Given the description of an element on the screen output the (x, y) to click on. 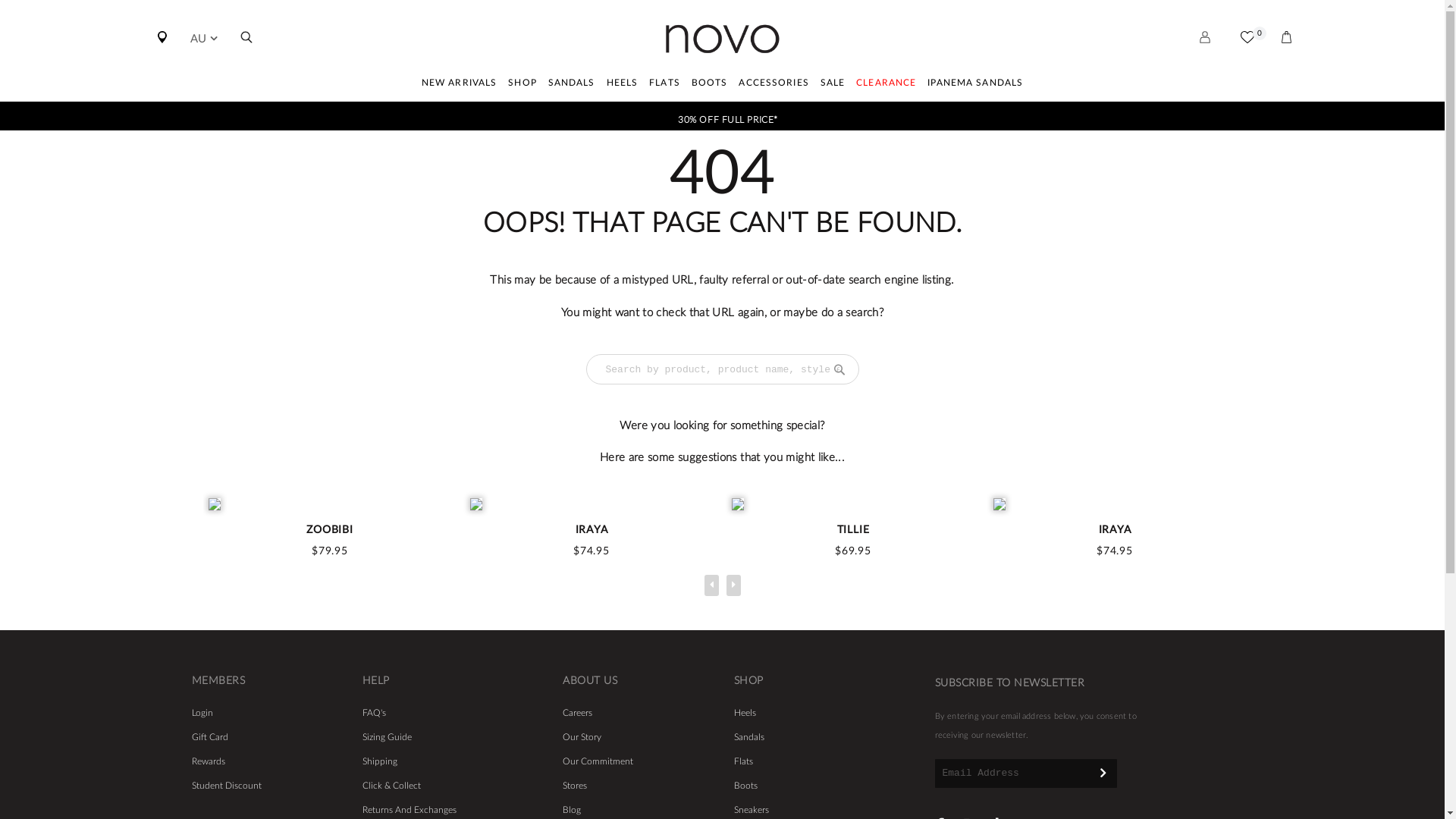
AU Element type: text (202, 38)
Careers Element type: text (577, 712)
ACCESSORIES Element type: text (773, 84)
FLATS Element type: text (664, 84)
NEW ARRIVALS Element type: text (458, 84)
Sizing Guide Element type: text (386, 736)
CLEARANCE Element type: text (886, 84)
Subscribe Element type: hover (1102, 771)
Login Element type: text (201, 712)
0 Element type: text (1247, 50)
Rewards Element type: text (207, 760)
SHOP Element type: text (522, 84)
Student Discount Element type: text (225, 785)
IPANEMA SANDALS Element type: text (974, 84)
Search Element type: hover (245, 50)
BOOTS Element type: text (709, 84)
Shipping Element type: text (379, 760)
Heels Element type: text (745, 712)
Sandals Element type: text (749, 736)
SEARCH Element type: text (839, 368)
Stores Element type: text (574, 785)
Boots Element type: text (745, 785)
SANDALS Element type: text (571, 84)
Returns And Exchanges Element type: text (409, 809)
Cart Element type: text (1286, 50)
FAQ's Element type: text (373, 712)
Novo Shoes Element type: hover (722, 38)
HEELS Element type: text (622, 84)
Flats Element type: text (743, 760)
Our Commitment Element type: text (597, 760)
Sneakers Element type: text (751, 809)
Our Story Element type: text (581, 736)
SALE Element type: text (832, 84)
Click & Collect Element type: text (391, 785)
FREE STANDARD SHIPPING - SPEND OVER $79.95 Element type: text (727, 115)
Gift Card Element type: text (209, 736)
Blog Element type: text (571, 809)
